Given the description of an element on the screen output the (x, y) to click on. 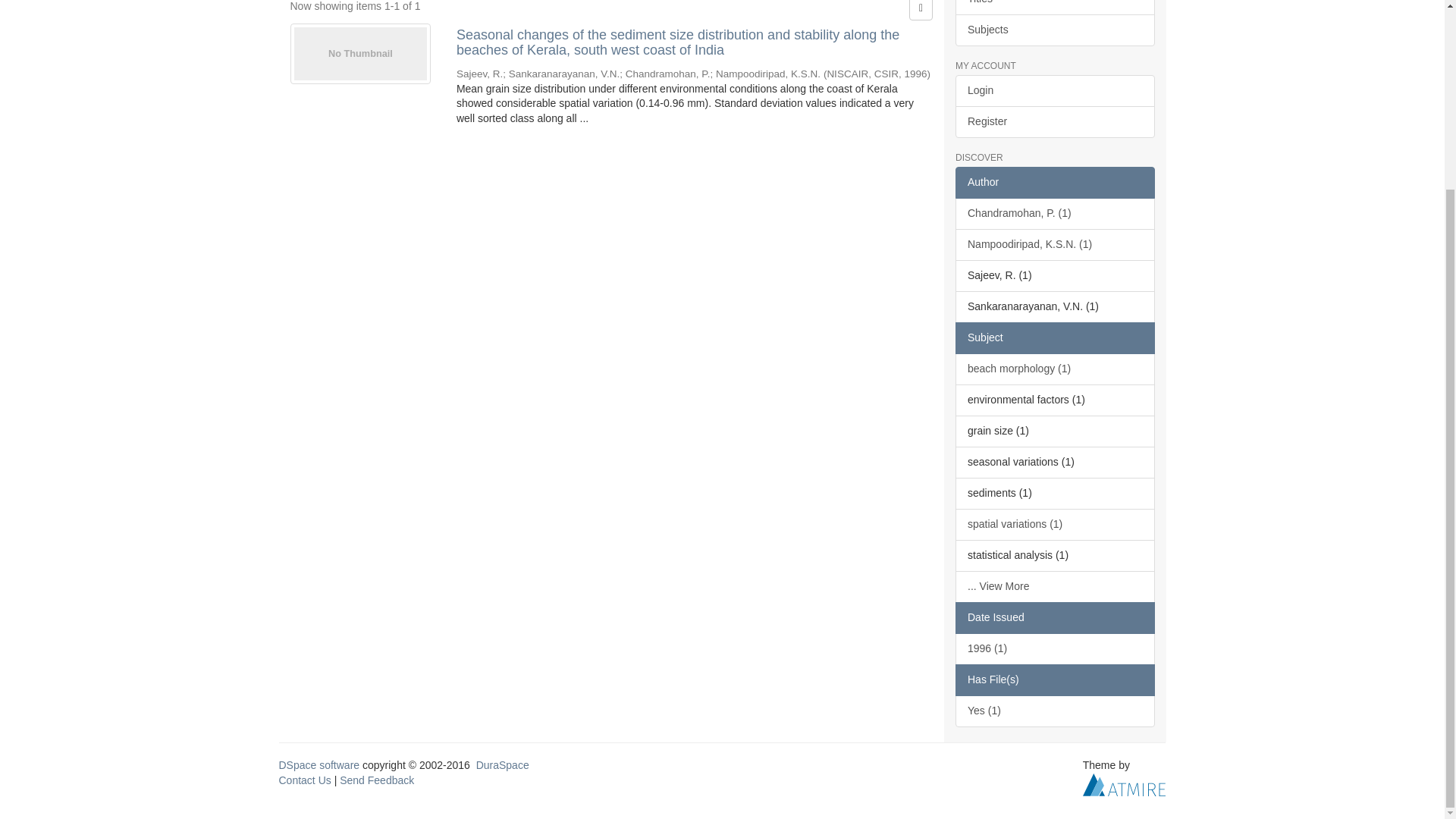
Atmire NV (1124, 784)
